Given the description of an element on the screen output the (x, y) to click on. 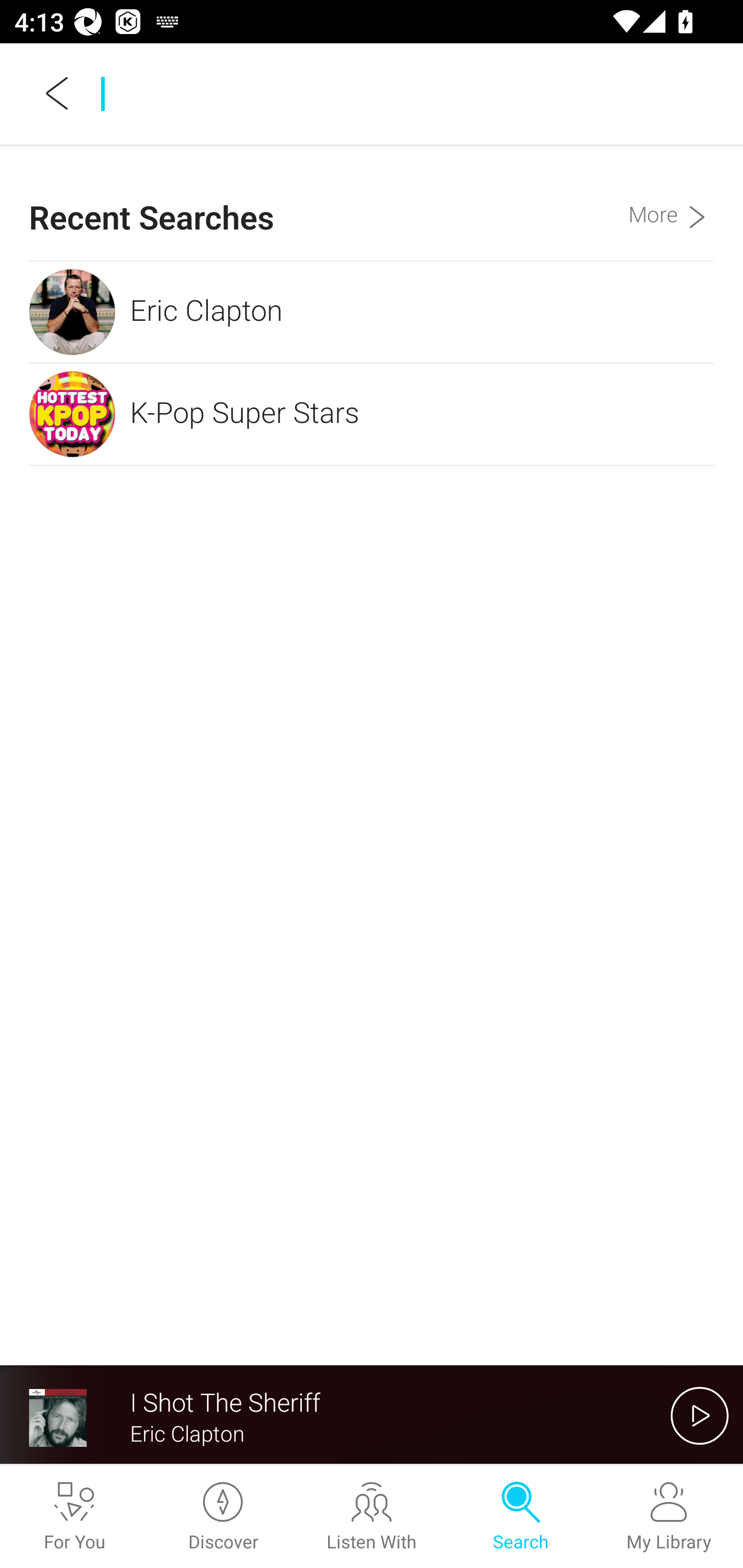
Back,outside of the list (57, 93)
More Recent Searches More (671, 202)
Eric Clapton (371, 311)
K-Pop Super Stars (371, 413)
開始播放 (699, 1415)
For You (74, 1517)
Discover (222, 1517)
Listen With (371, 1517)
Search (519, 1517)
My Library (668, 1517)
